Given the description of an element on the screen output the (x, y) to click on. 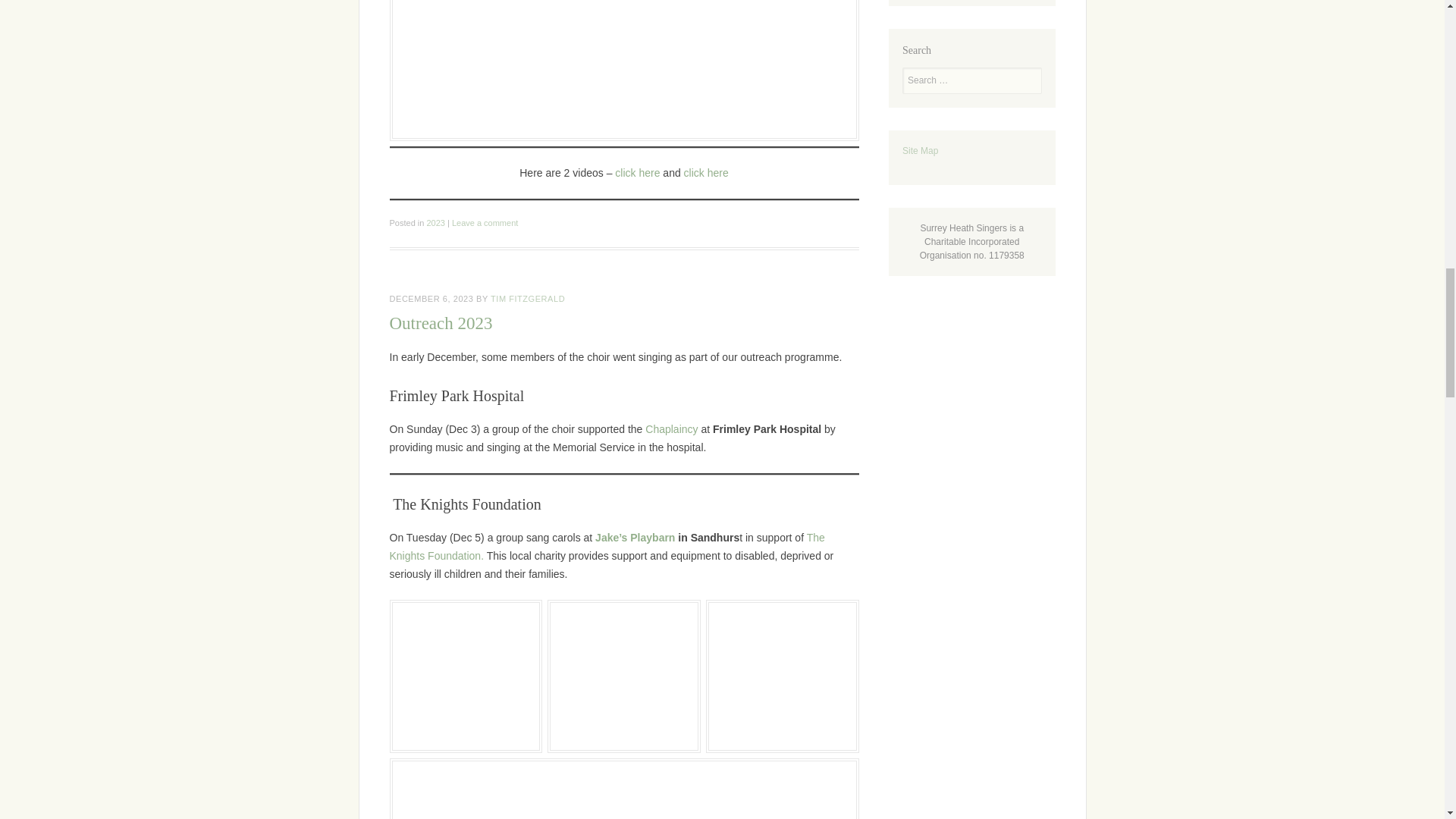
click here (706, 173)
2023 (435, 222)
16:44 (432, 298)
Chaplaincy (671, 428)
TIM FITZGERALD (527, 298)
Leave a comment (484, 222)
click here (636, 173)
The Knights Foundation. (607, 546)
View all posts by Tim FitzGerald (527, 298)
DECEMBER 6, 2023 (432, 298)
